Given the description of an element on the screen output the (x, y) to click on. 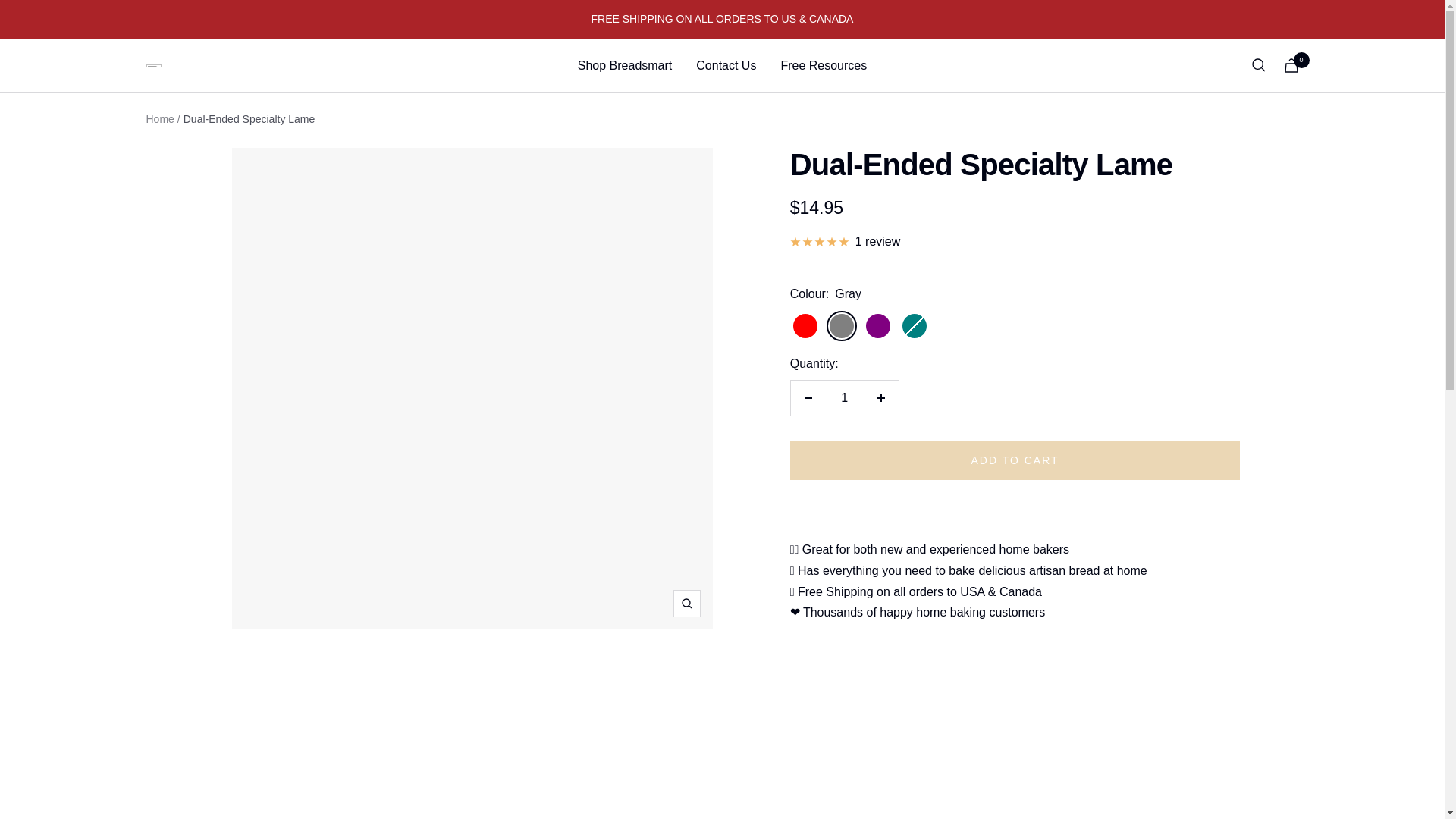
Shop Breadsmart (625, 65)
0 (1291, 65)
Increase quantity (880, 397)
Free Resources (823, 65)
ADD TO CART (1015, 459)
1 review (845, 241)
Breadsmart (152, 65)
Decrease quantity (807, 397)
1 (844, 397)
Home (159, 119)
Zoom (686, 603)
